Given the description of an element on the screen output the (x, y) to click on. 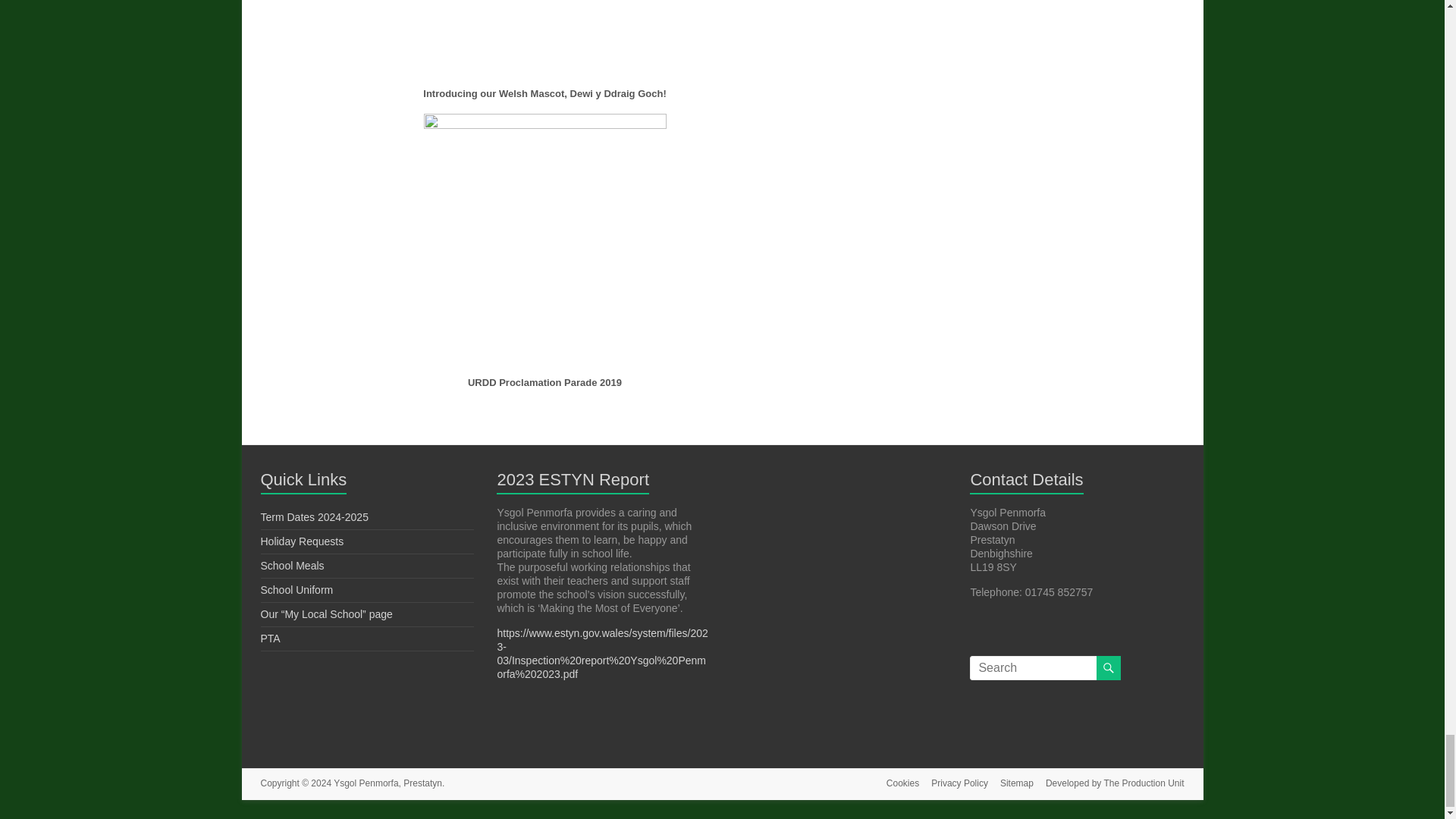
Ysgol Penmorfa, Prestatyn (388, 783)
